Given the description of an element on the screen output the (x, y) to click on. 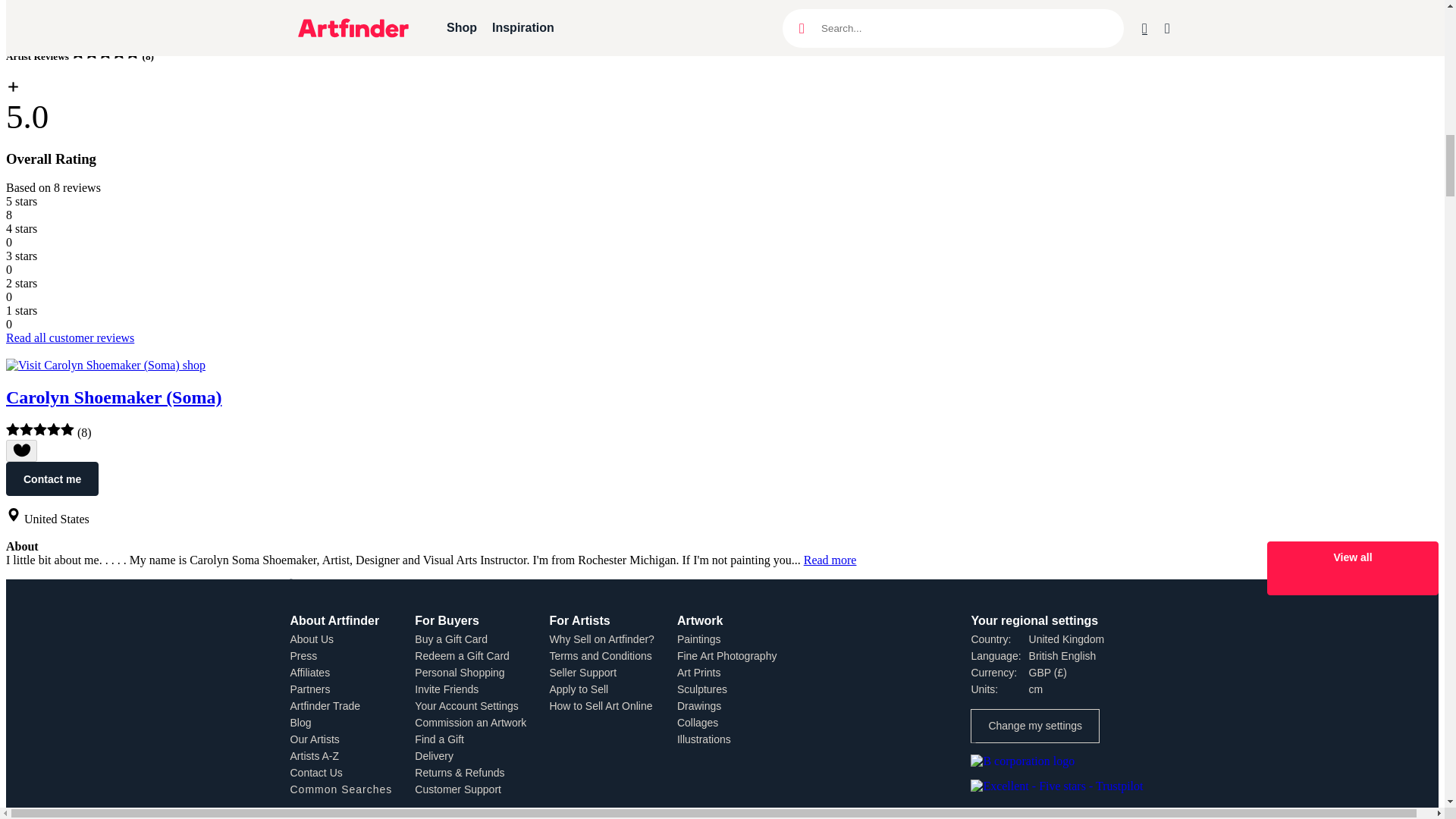
Star full (132, 52)
Star full (26, 429)
Star full (39, 429)
Learn more about our money back guarantee policy (220, 6)
Change my settings (1035, 725)
Star full (105, 52)
Certified B corporation (1031, 760)
Star full (12, 429)
Plus (12, 86)
Star full (118, 52)
